Given the description of an element on the screen output the (x, y) to click on. 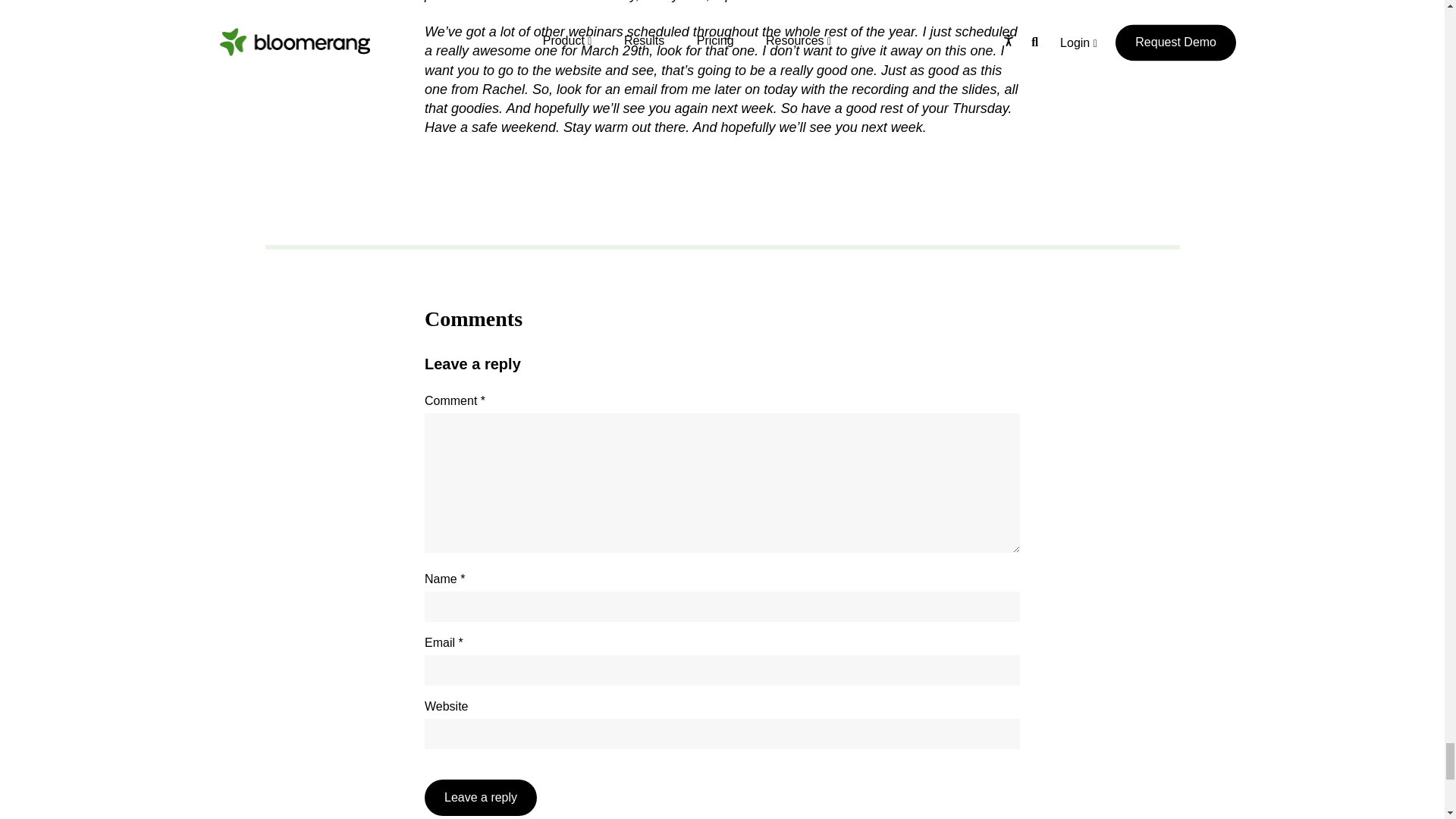
Leave a reply (481, 797)
